Given the description of an element on the screen output the (x, y) to click on. 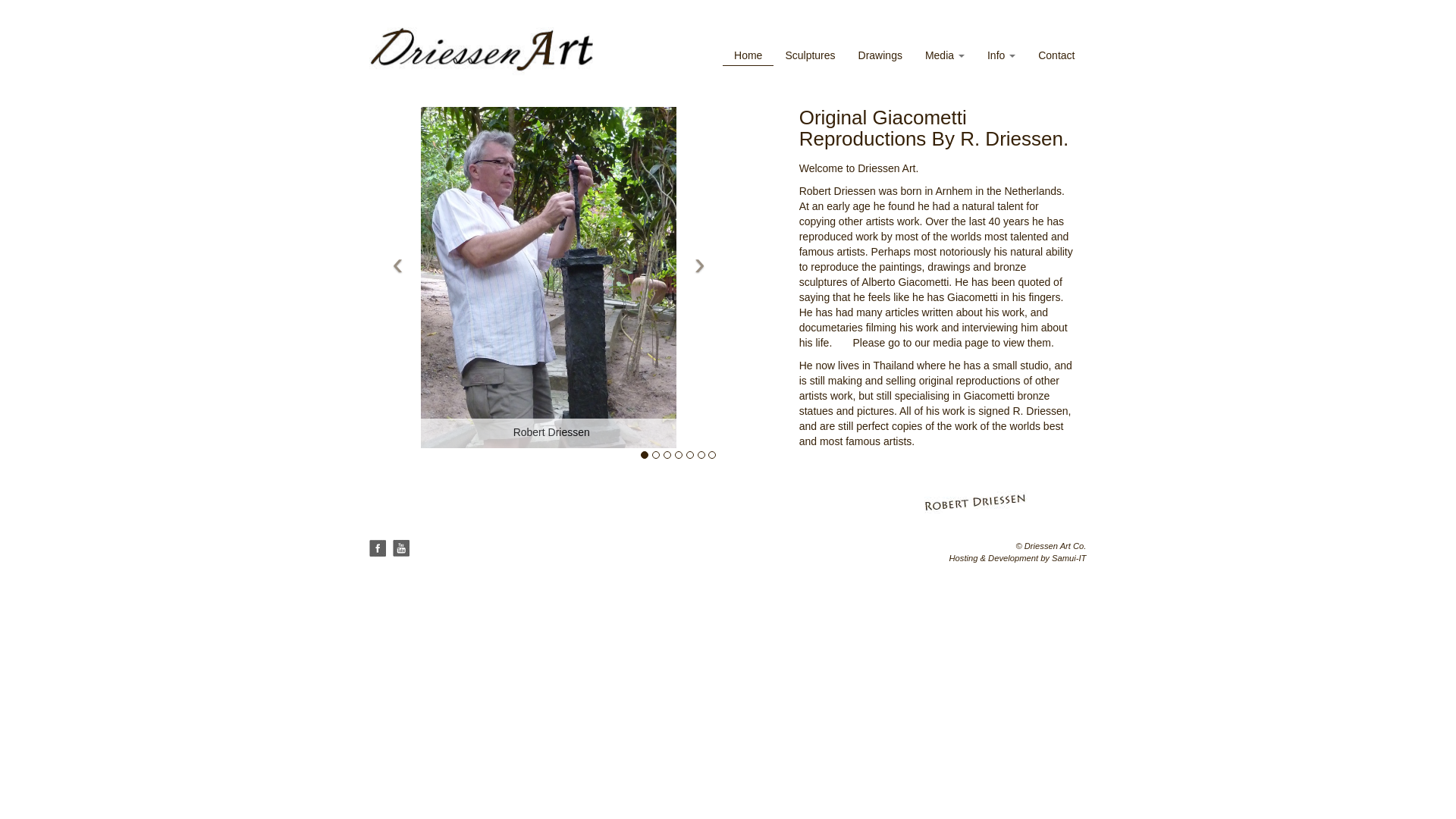
Sculptures (809, 54)
Media (944, 54)
Samui-IT (1068, 557)
Contact (1056, 54)
Info (1000, 54)
Drawings (880, 54)
Home (747, 54)
